Given the description of an element on the screen output the (x, y) to click on. 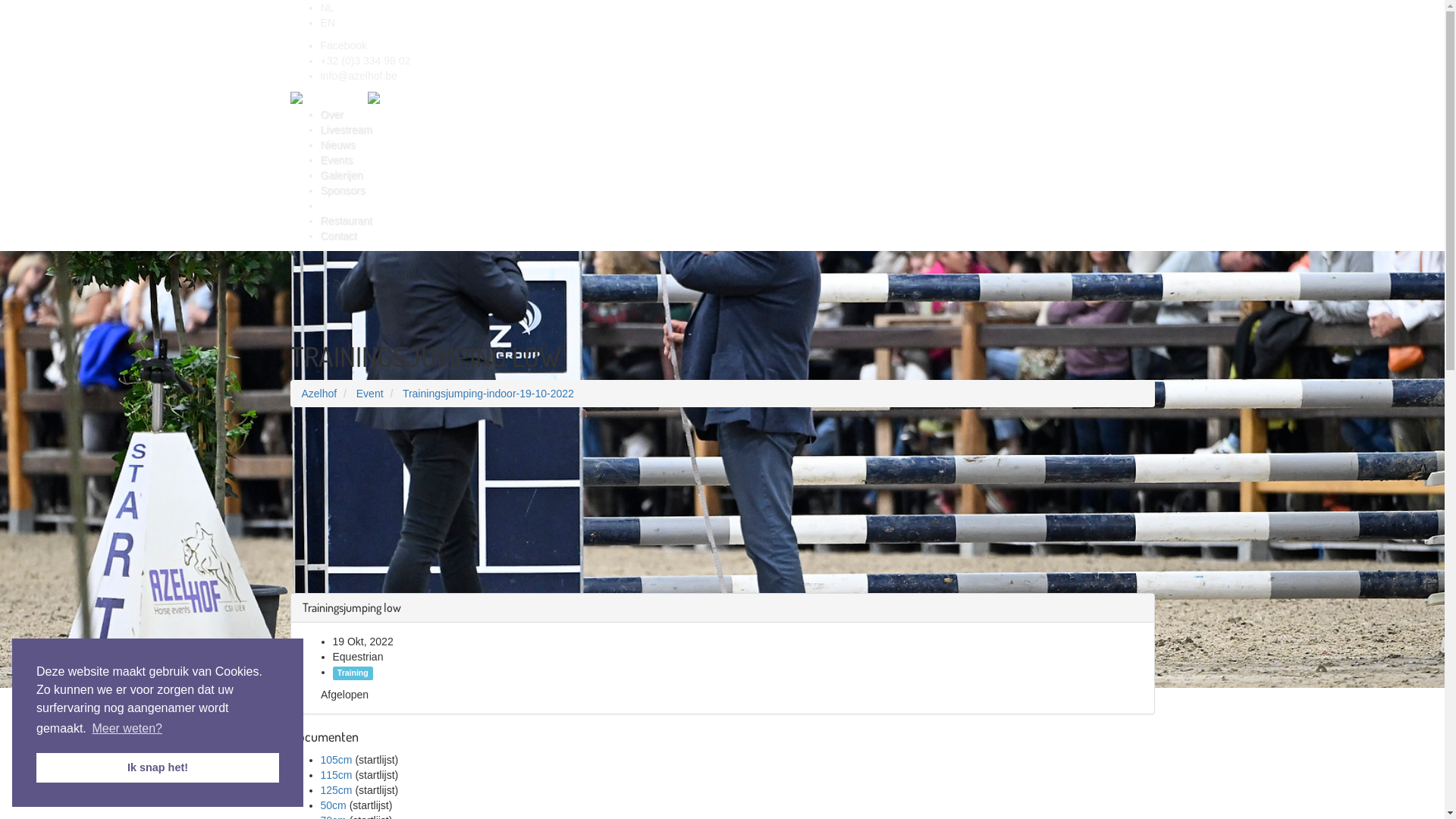
Restaurant Element type: text (737, 220)
Nieuws Element type: text (737, 144)
Over Element type: text (737, 114)
EN Element type: text (327, 22)
Events Element type: text (737, 159)
115cm Element type: text (335, 774)
Sponsors Element type: text (737, 189)
Ik snap het! Element type: text (157, 767)
105cm Element type: text (335, 759)
Contact Element type: text (737, 235)
+32 (0)3 334 98 02 Element type: text (365, 60)
info@azelhof.be Element type: text (358, 75)
Trainingsjumping-indoor-19-10-2022 Element type: text (488, 393)
Azelhof Element type: text (319, 393)
Facebook Element type: text (343, 45)
Galerijen Element type: text (737, 174)
NL Element type: text (326, 7)
Livestream Element type: text (737, 129)
125cm Element type: text (335, 790)
Meer weten? Element type: text (126, 728)
Event Element type: text (369, 393)
50cm Element type: text (332, 805)
